Given the description of an element on the screen output the (x, y) to click on. 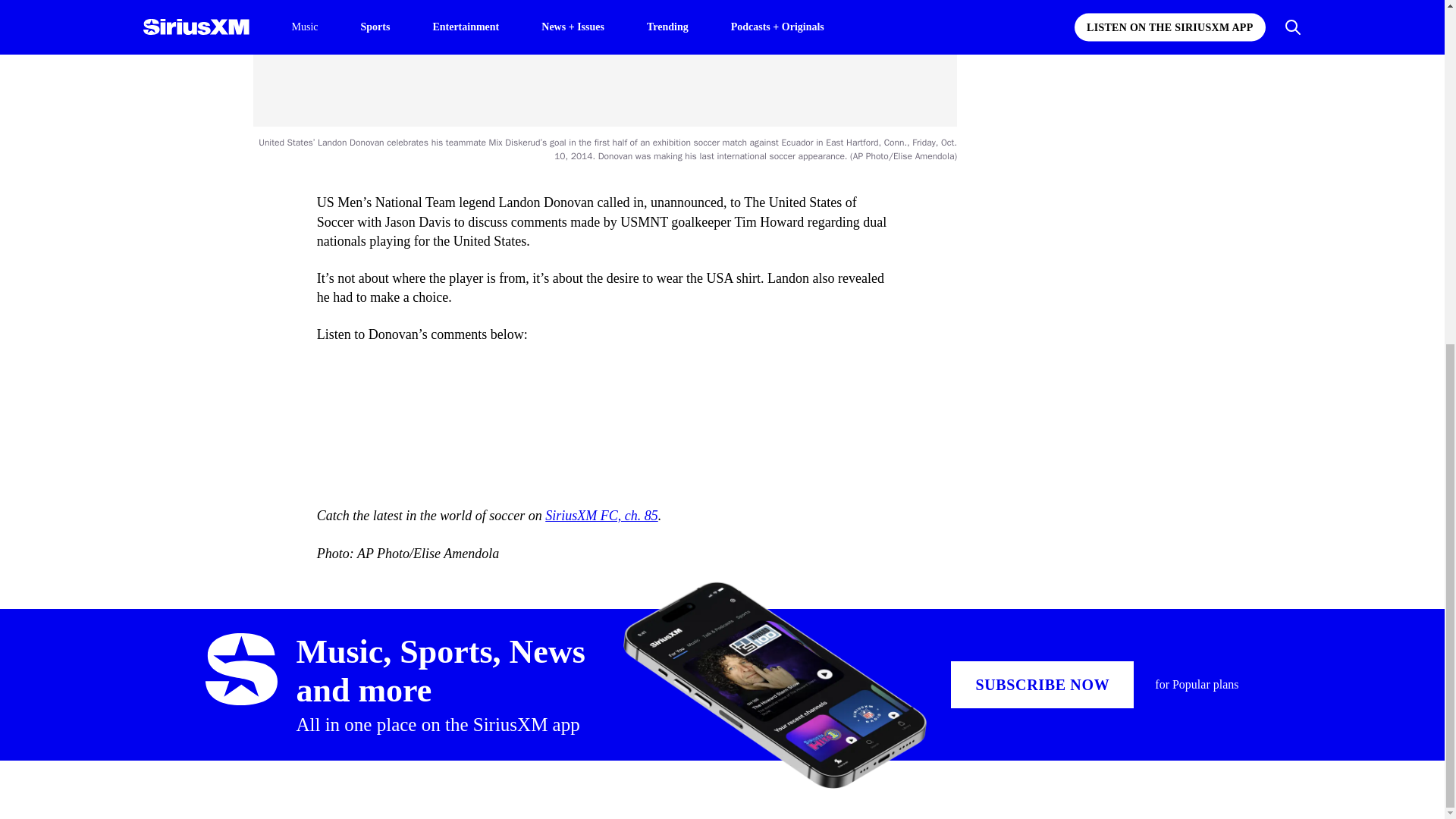
SiriusXM FC, ch. 85 (601, 515)
SUBSCRIBE NOW (1042, 684)
